Given the description of an element on the screen output the (x, y) to click on. 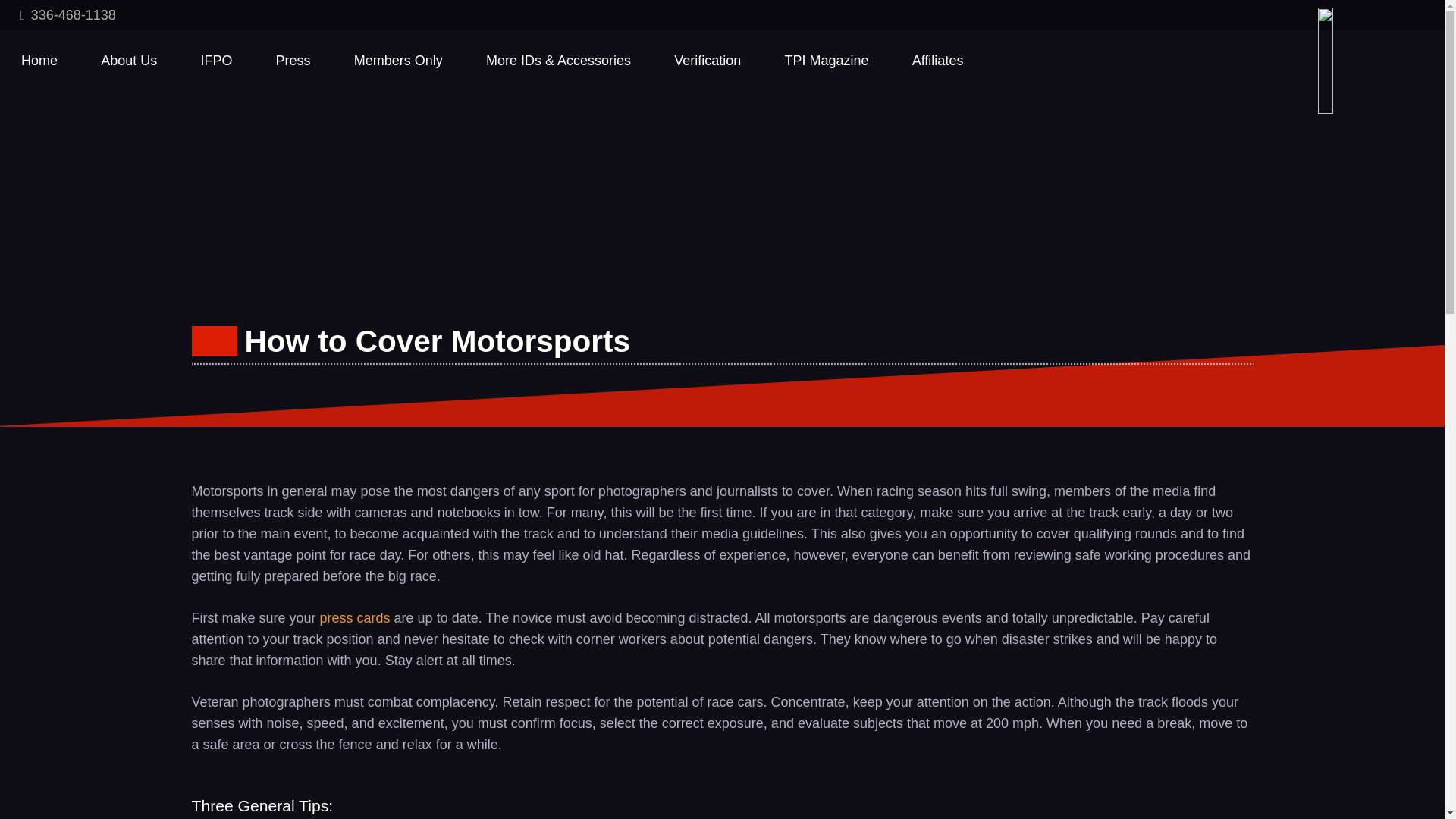
TPI Magazine (826, 60)
Members Only (398, 60)
About Us (128, 60)
Verification (706, 60)
press cards (355, 617)
